Given the description of an element on the screen output the (x, y) to click on. 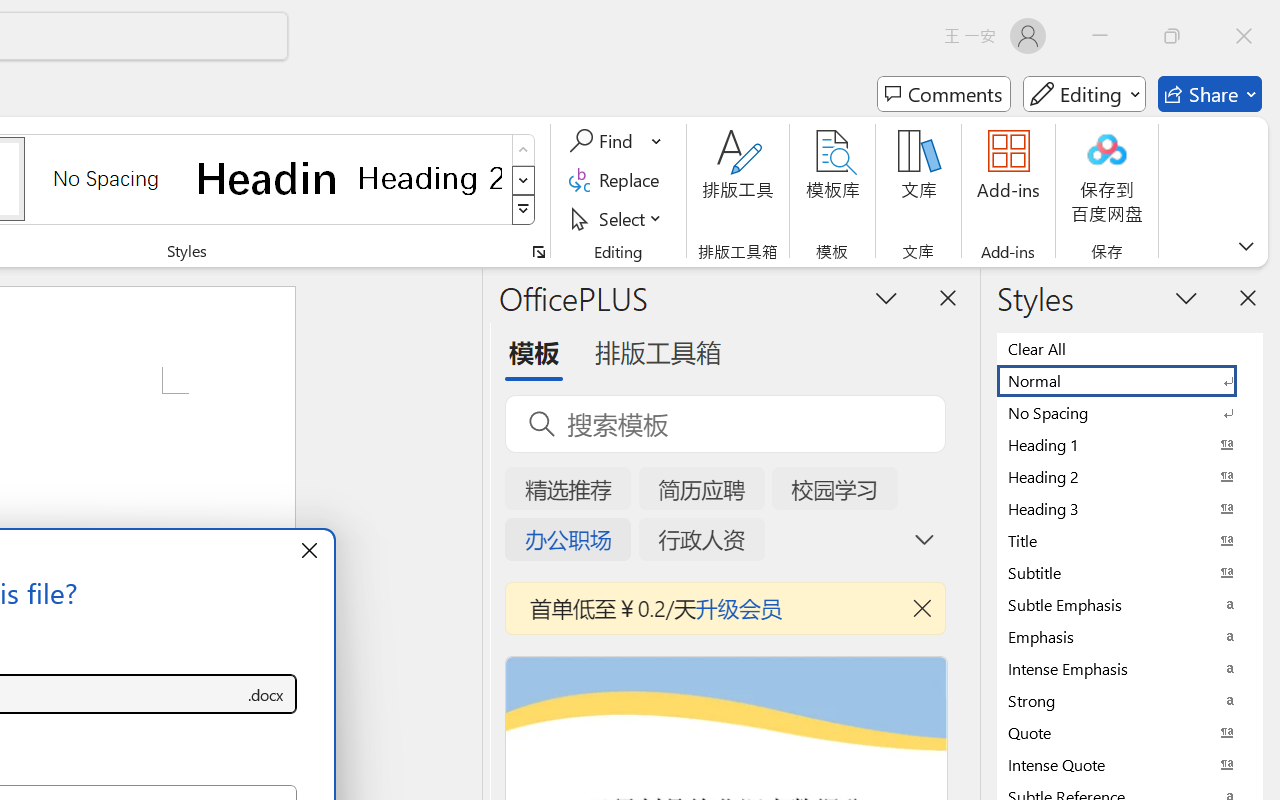
Heading 3 (1130, 508)
Save as type (265, 694)
Find (616, 141)
Styles... (538, 252)
Normal (1130, 380)
Subtle Emphasis (1130, 604)
Subtitle (1130, 572)
Intense Quote (1130, 764)
Find (604, 141)
